Given the description of an element on the screen output the (x, y) to click on. 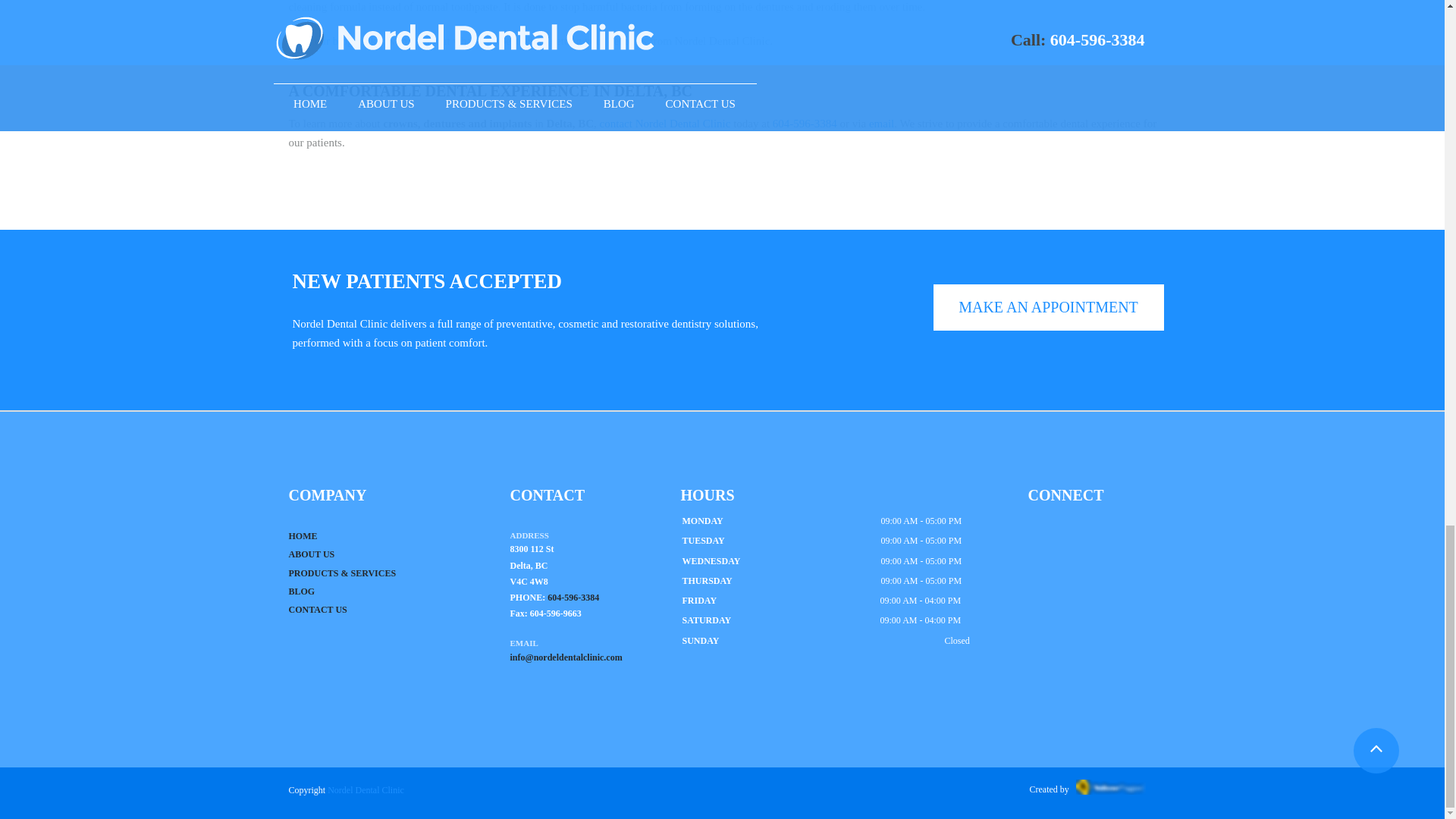
604-596-3384 (572, 597)
Nordel Dental Clinic (365, 789)
contact Nordel Dental Clinic (663, 123)
Read our blog (320, 40)
604-596-3384 (803, 123)
BLOG (301, 591)
Embedded Content (1061, 565)
HOME (302, 535)
CONTACT US (317, 609)
email (879, 123)
ABOUT US (311, 553)
Embedded Content (1058, 542)
MAKE AN APPOINTMENT (1048, 307)
